Given the description of an element on the screen output the (x, y) to click on. 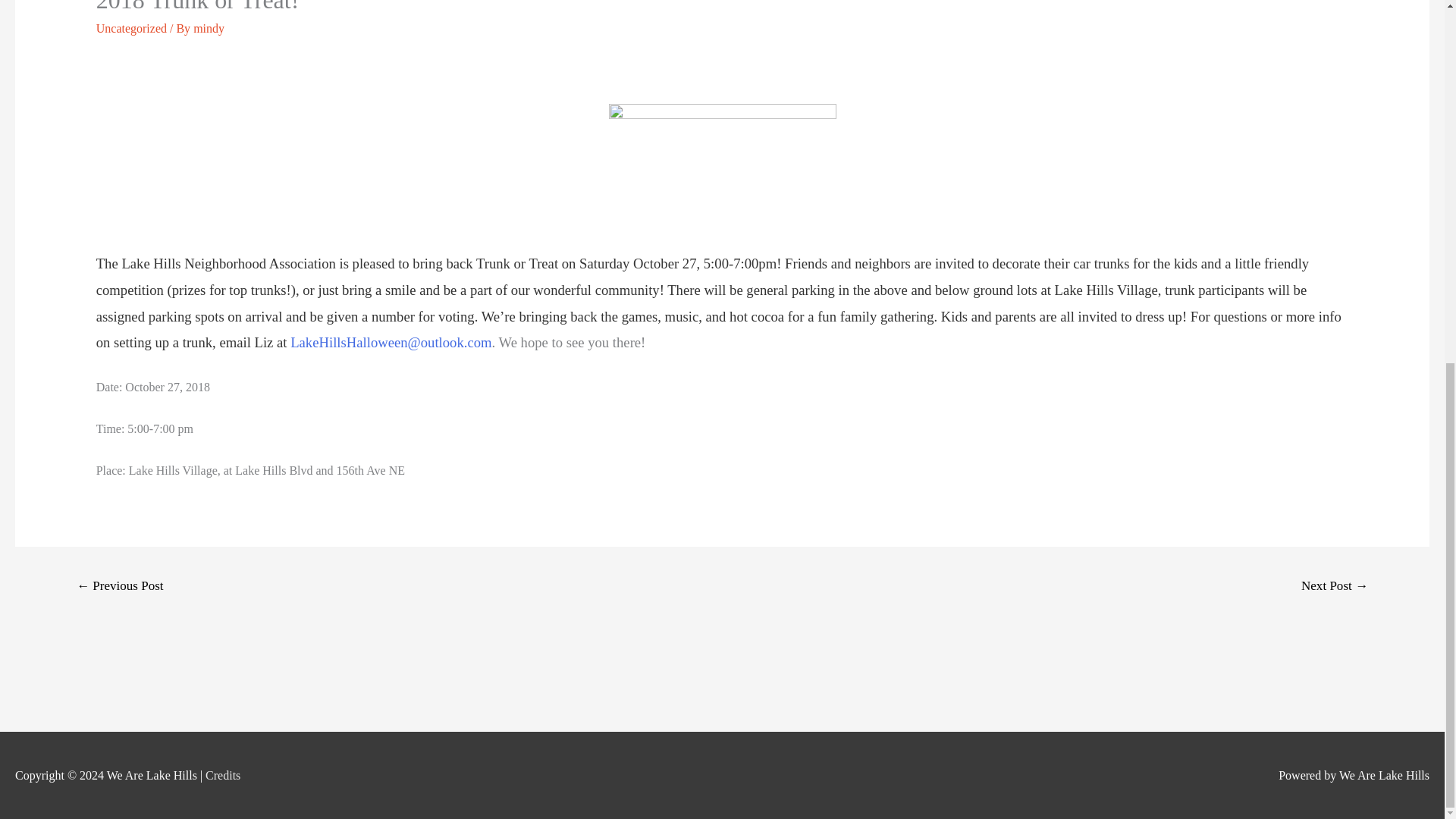
Uncategorized (131, 28)
mindy (208, 28)
Credits (222, 775)
View all posts by mindy (208, 28)
